Given the description of an element on the screen output the (x, y) to click on. 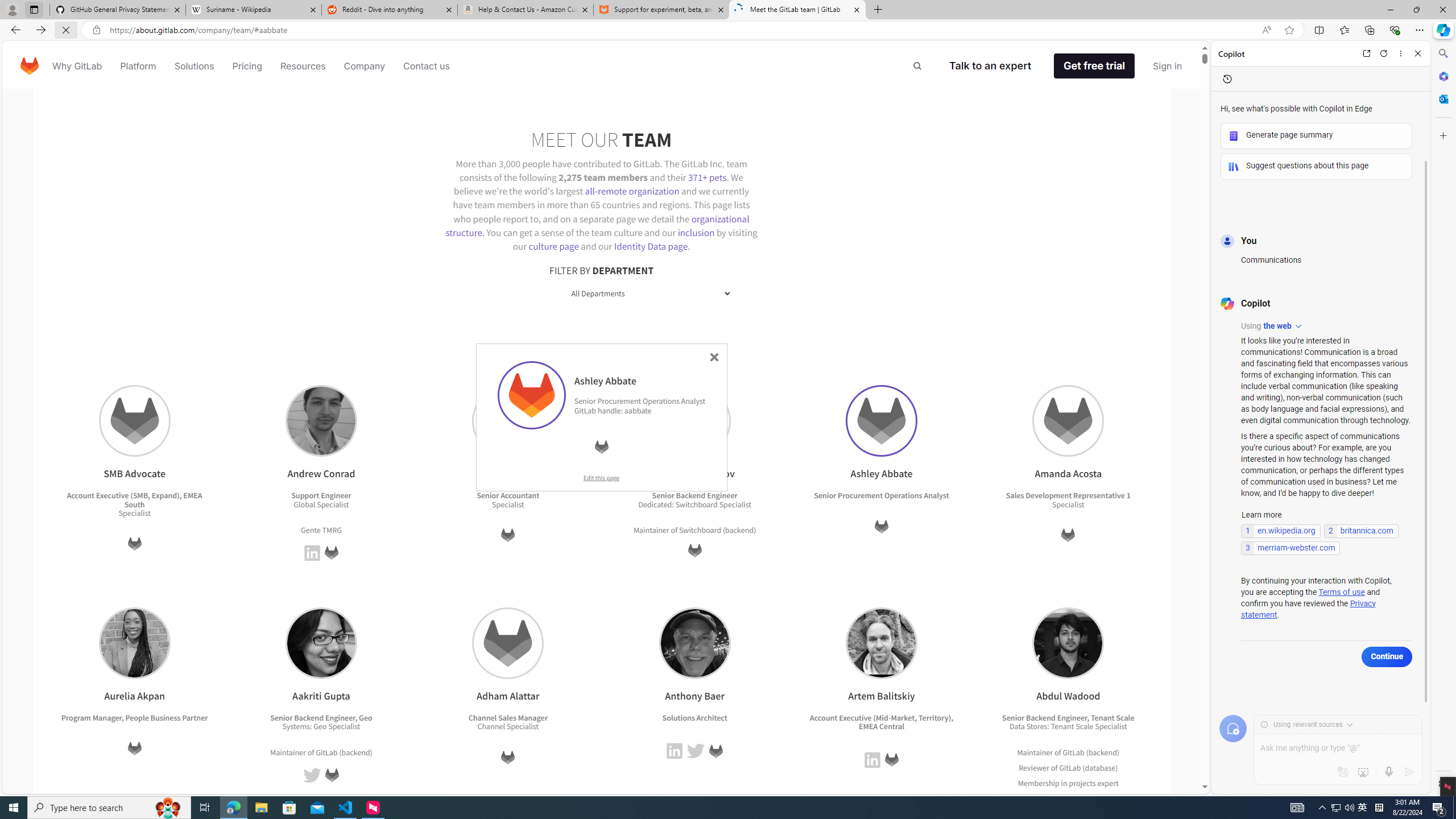
Suriname - Wikipedia (253, 9)
Andrew Conrad (320, 420)
culture page (553, 246)
organizational structure (597, 225)
Solutions Architect (695, 717)
371+ pets (706, 176)
Resources (302, 65)
Contact us (426, 65)
Ashley Abbate (531, 395)
Platform (138, 65)
